Given the description of an element on the screen output the (x, y) to click on. 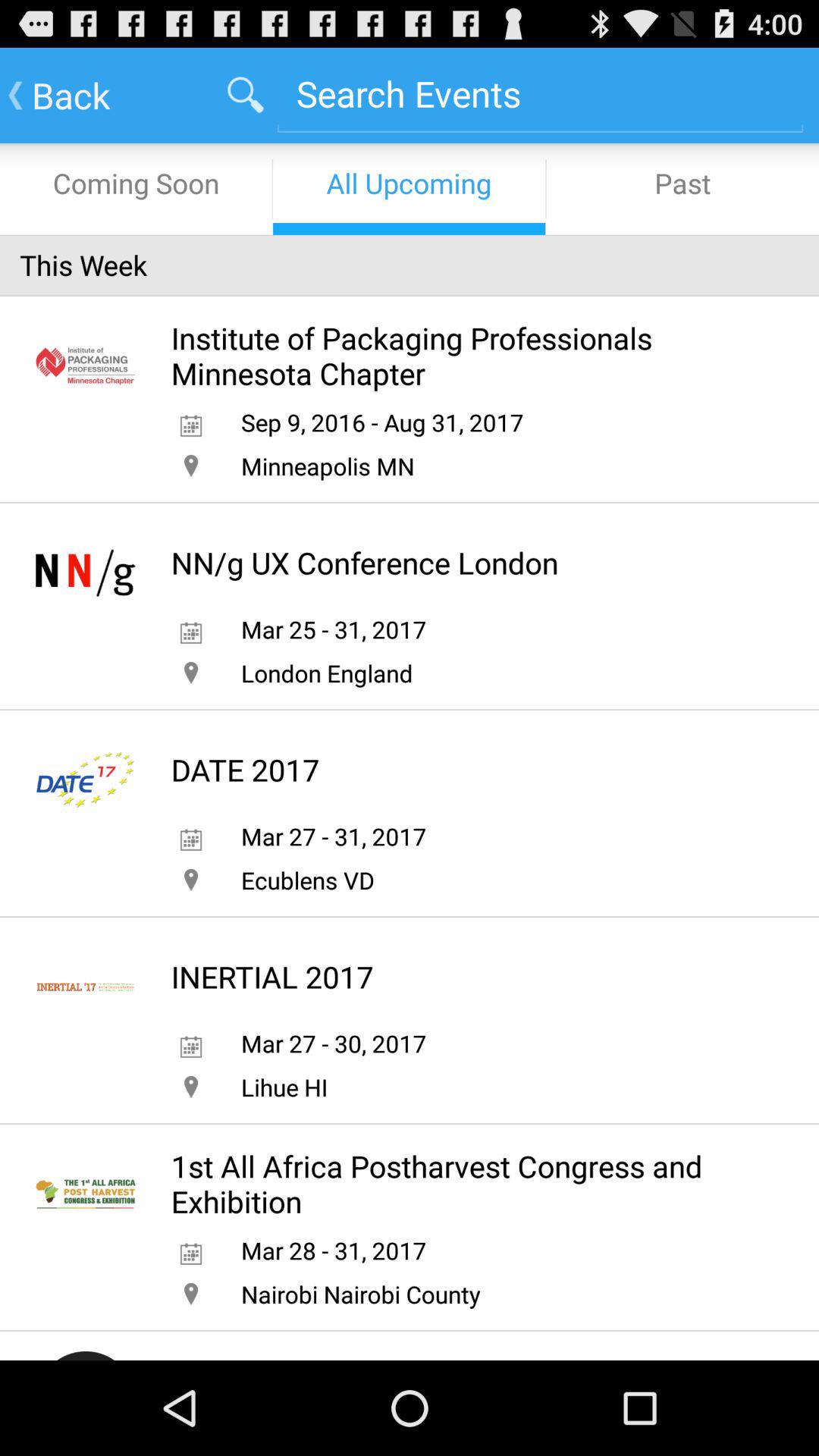
click app below mar 27 30 app (284, 1086)
